Given the description of an element on the screen output the (x, y) to click on. 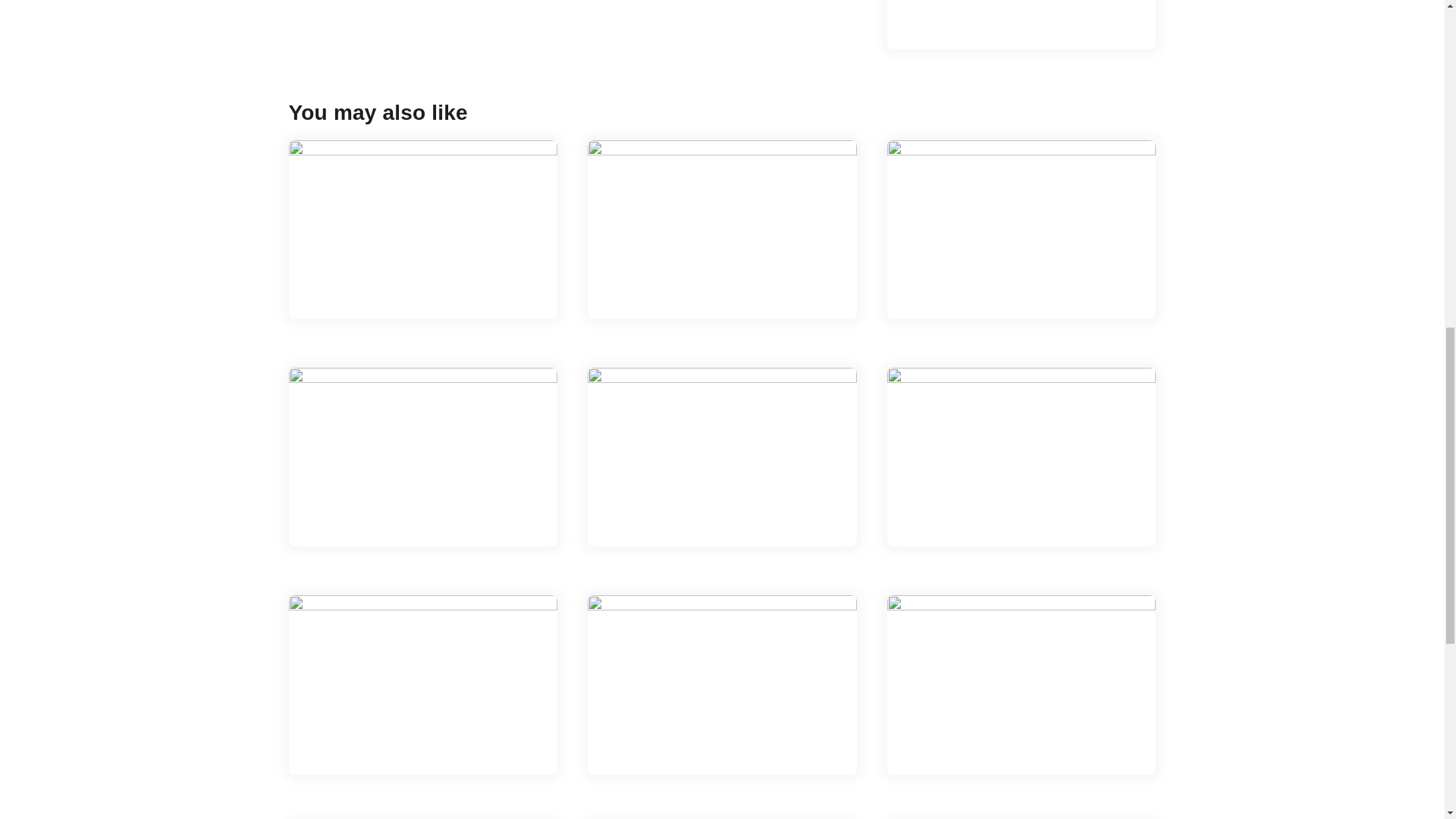
The Increase in Oil Prices Free Illustration (422, 457)
Investor Amid Falling Stock Market Illustration (1021, 457)
Family Budget Planning Flat Illustration (722, 684)
Falling Oil Prices Vector Design (422, 684)
Mobile Stock Trading Concept (1021, 228)
Earnings on the Internet Flat Design (722, 228)
Negative Financial Schedule and Frustrated Traders Concept (722, 457)
ROI Concept Design Illustration (422, 228)
Online Banking Free Vector Design Concept (1021, 24)
Paying Taxes via Smartphone Free Illustration (1021, 684)
